Given the description of an element on the screen output the (x, y) to click on. 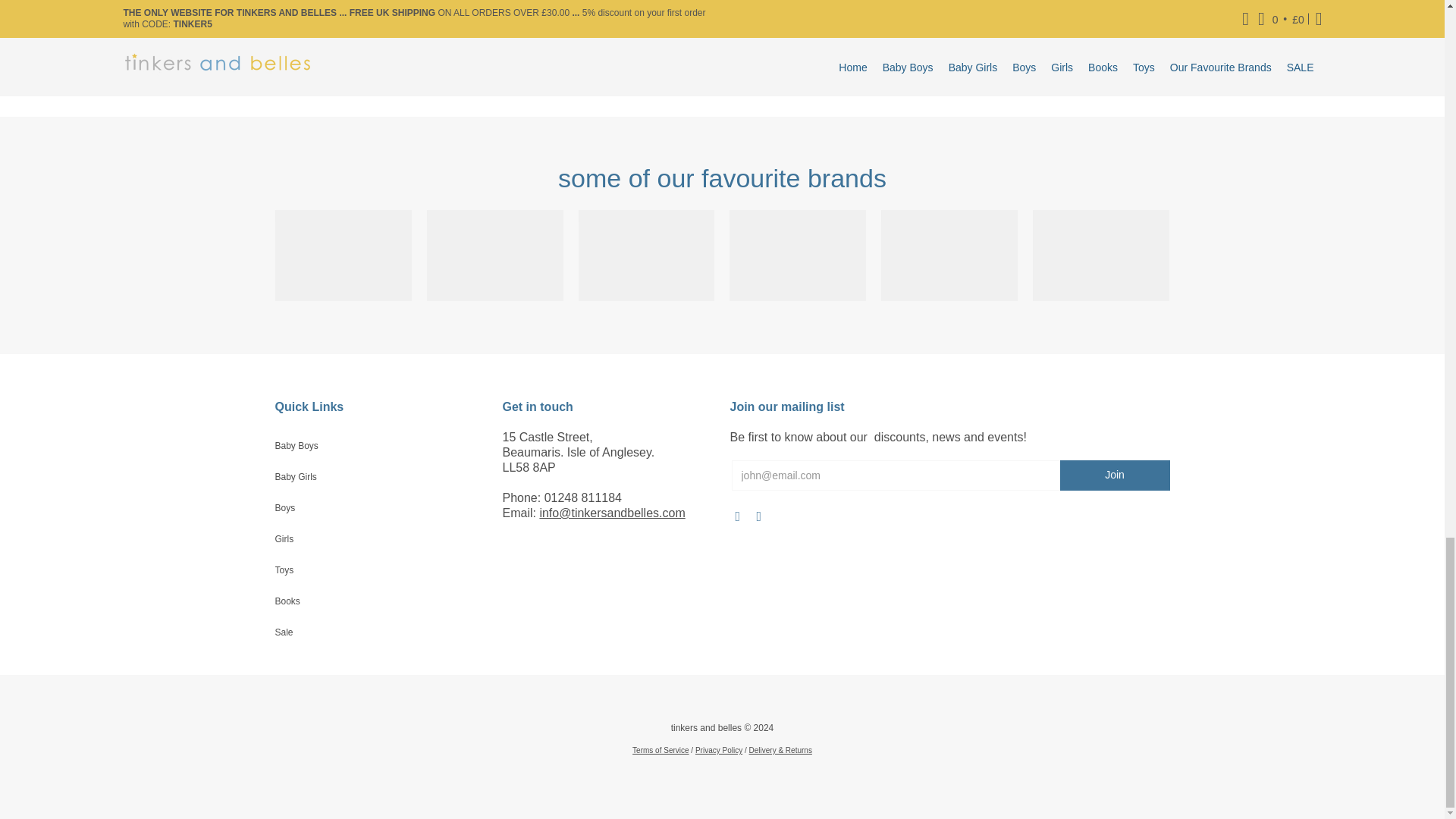
Join (1114, 475)
Add to Cart (993, 78)
Add to Cart (311, 78)
Add to Cart (766, 78)
